Given the description of an element on the screen output the (x, y) to click on. 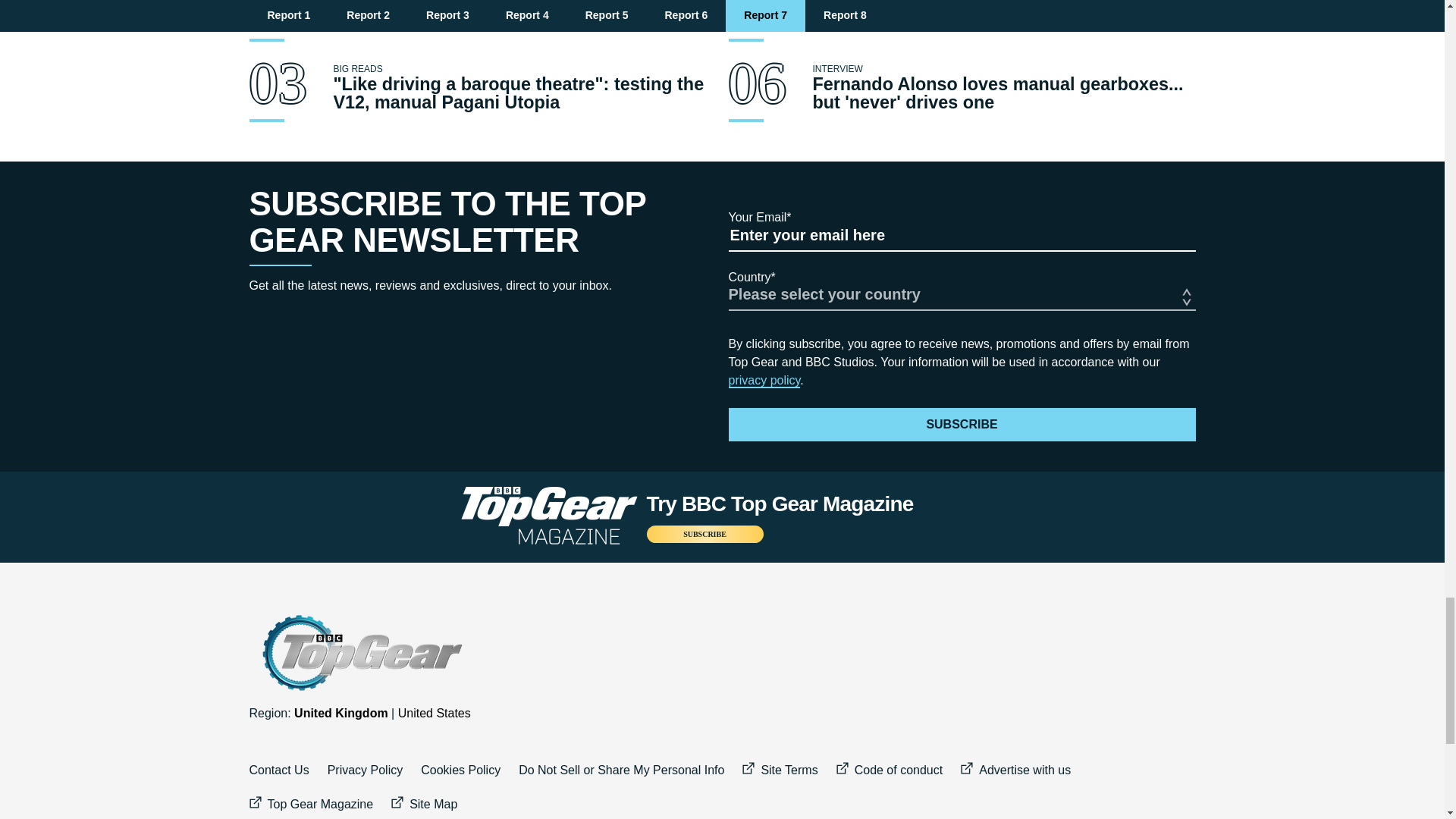
Home (359, 653)
